Given the description of an element on the screen output the (x, y) to click on. 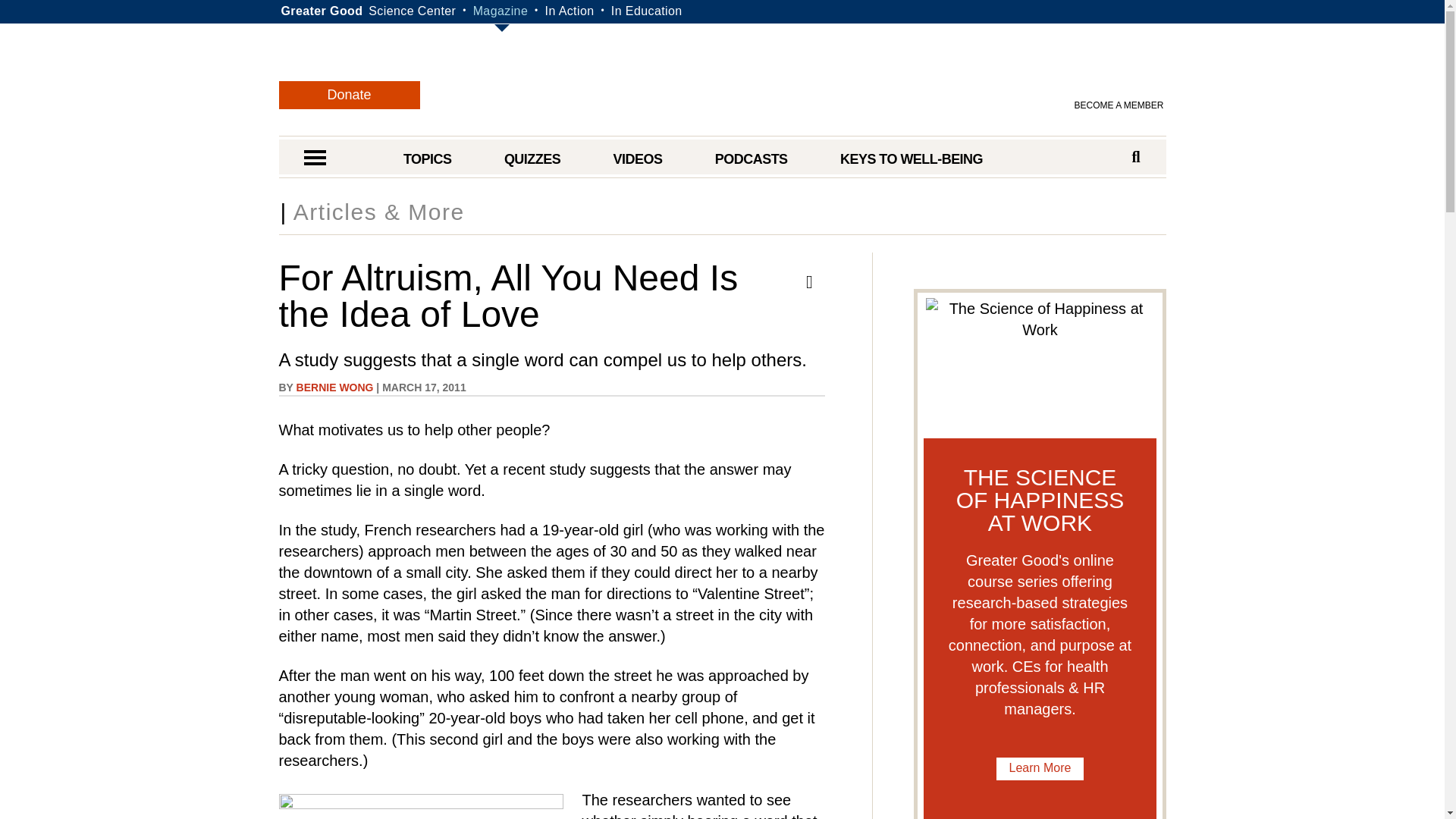
Magazine (500, 10)
BECOME A MEMBER (1118, 104)
QUIZZES (531, 158)
Greater Good Magazine (730, 81)
The Science of Happiness at Work (1039, 768)
Greater Good Science Center (411, 10)
In Action (569, 10)
The Science of Happiness at Work (1039, 364)
Greater Good Magazine (500, 10)
In Education (646, 10)
TOPICS (427, 158)
Donate (349, 94)
VIDEOS (637, 158)
Science Center (411, 10)
Greater Good In Education (646, 10)
